Given the description of an element on the screen output the (x, y) to click on. 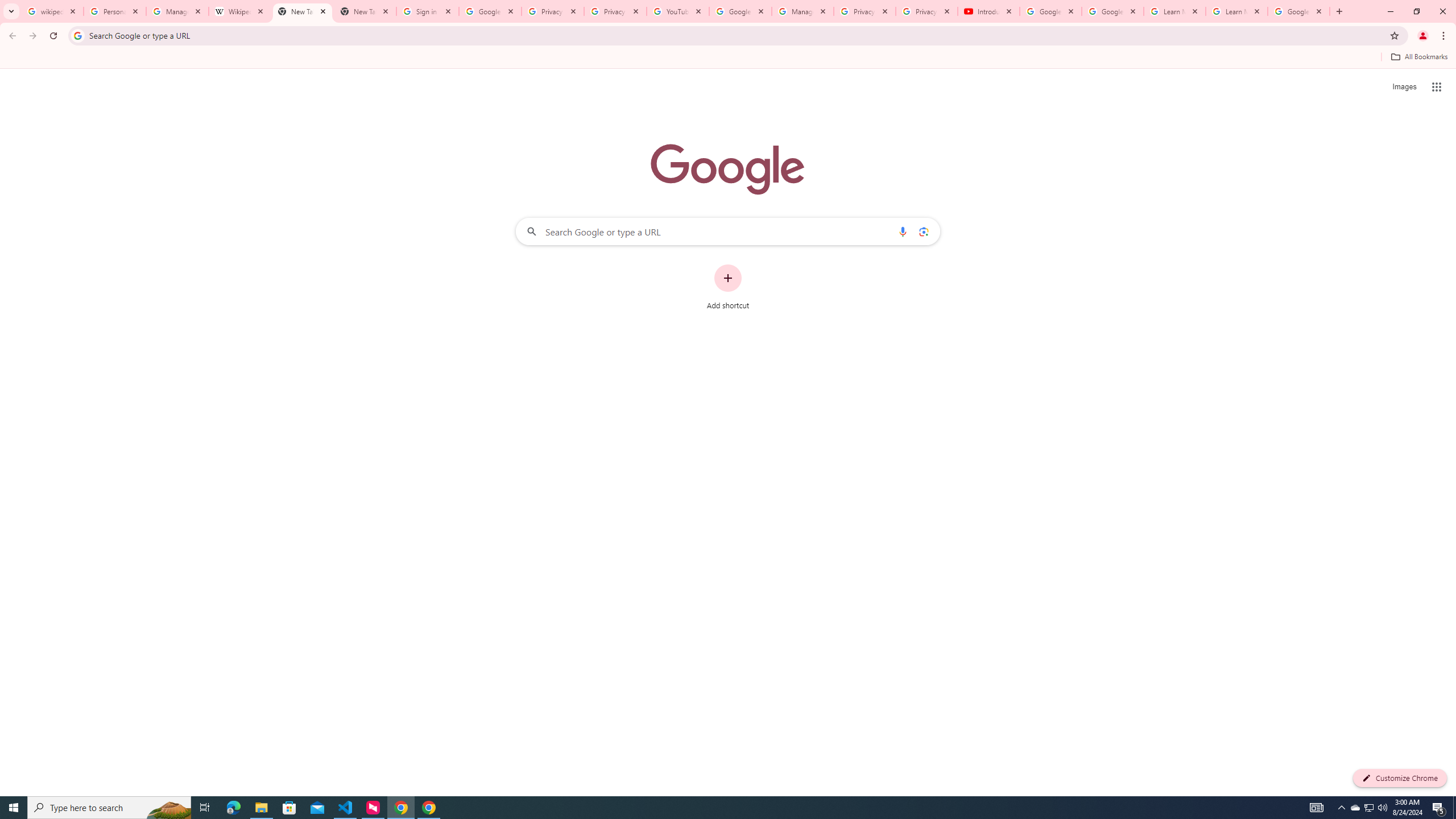
All Bookmarks (1418, 56)
Customize Chrome (1399, 778)
Introduction | Google Privacy Policy - YouTube (988, 11)
Google Account Help (1111, 11)
Personalization & Google Search results - Google Search Help (114, 11)
Search Google or type a URL (727, 230)
Google Account (1298, 11)
Sign in - Google Accounts (427, 11)
Search for Images  (1403, 87)
